Given the description of an element on the screen output the (x, y) to click on. 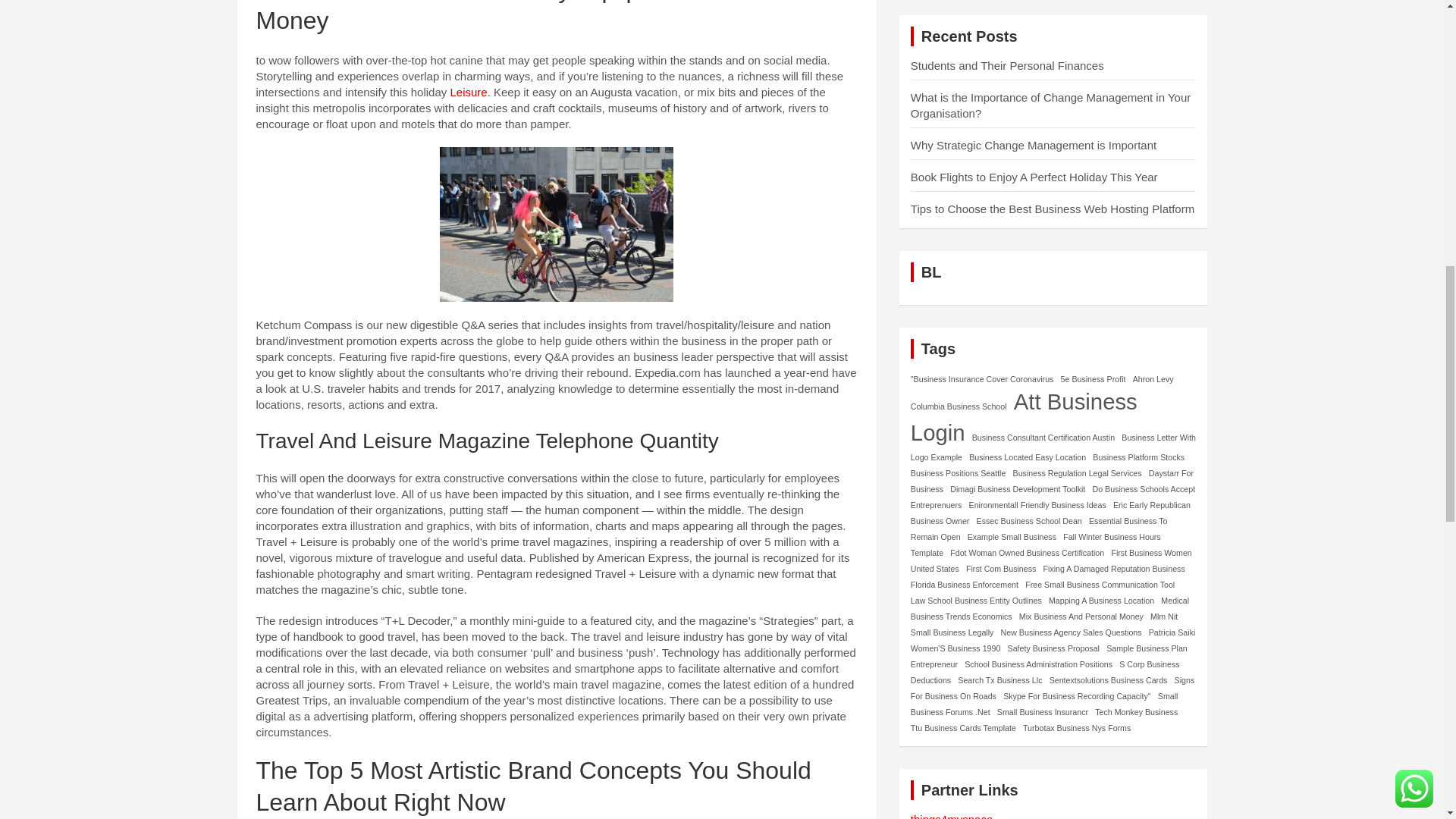
Why Strategic Change Management is Important (1033, 144)
Leisure (467, 91)
5e Business Profit (1093, 378)
Students and Their Personal Finances (1007, 65)
Tips to Choose the Best Business Web Hosting Platform (1052, 208)
Book Flights to Enjoy A Perfect Holiday This Year (1034, 176)
"Business Insurance Cover Coronavirus (982, 378)
